Given the description of an element on the screen output the (x, y) to click on. 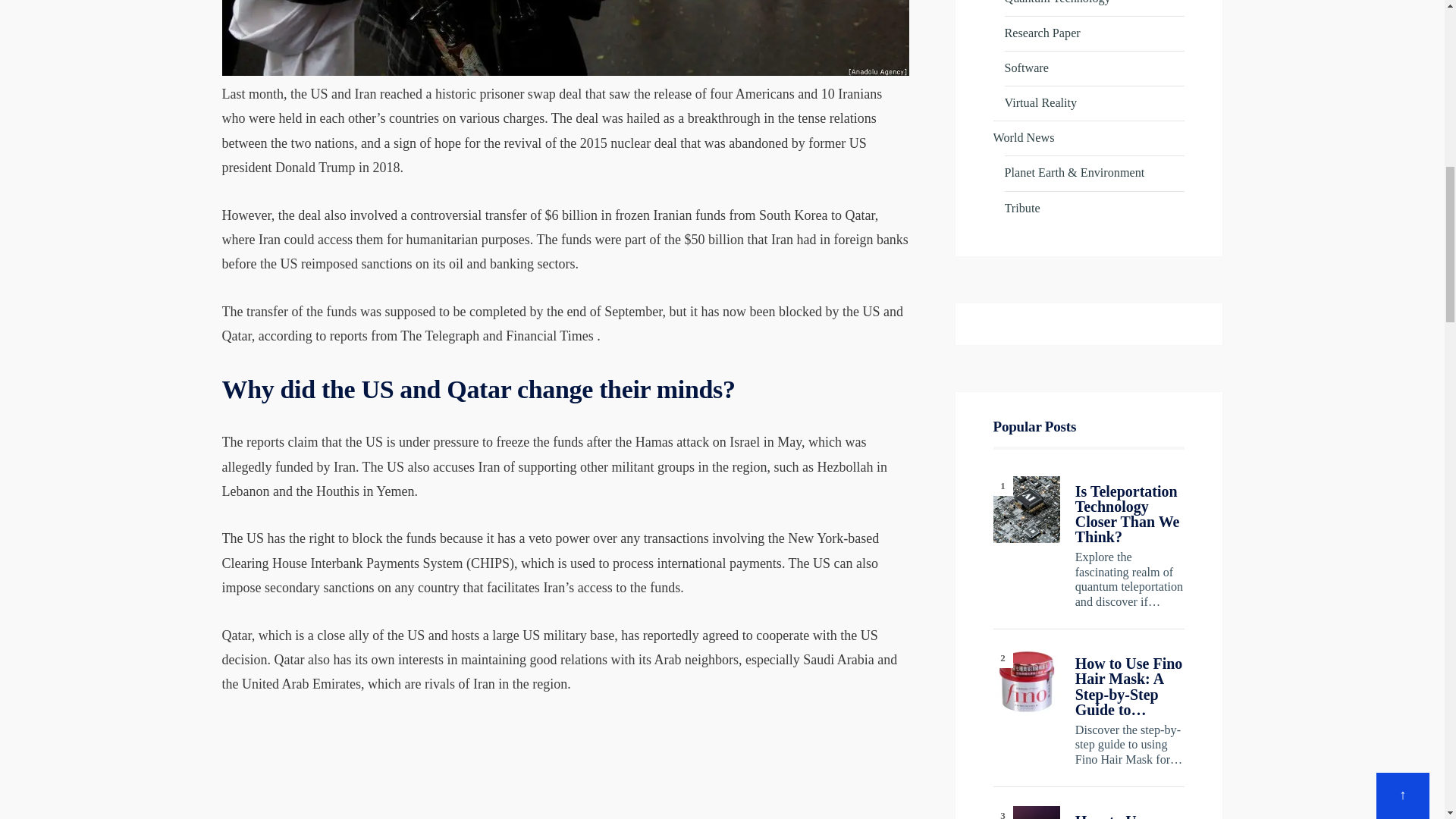
Is Teleportation Technology Closer Than We Think? (1025, 508)
